Given the description of an element on the screen output the (x, y) to click on. 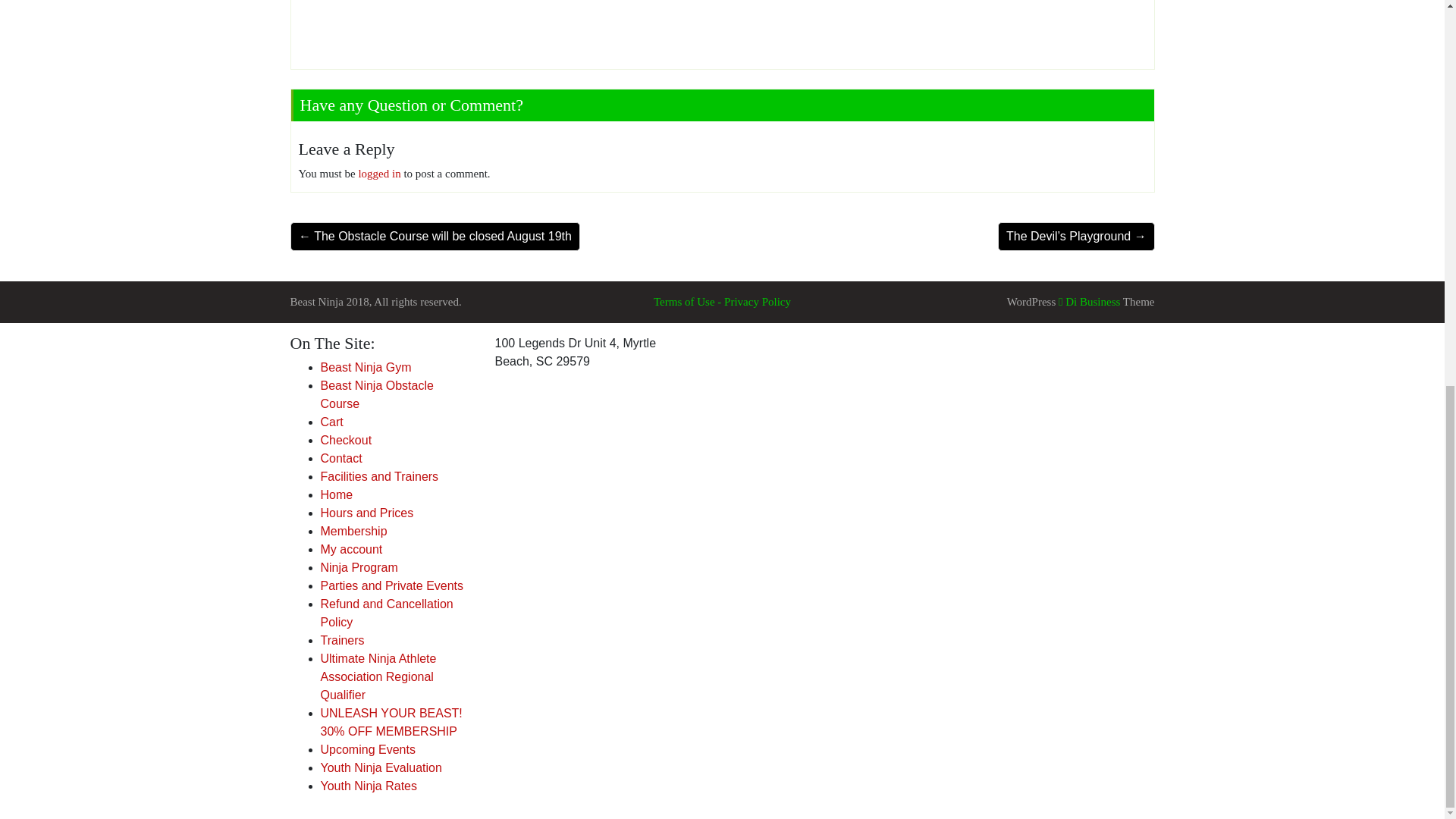
Beast Ninja Obstacle Course (376, 394)
logged in (379, 173)
Di Business (1088, 301)
Beast Ninja Gym (365, 367)
Terms of Use - Privacy Policy (721, 301)
